Given the description of an element on the screen output the (x, y) to click on. 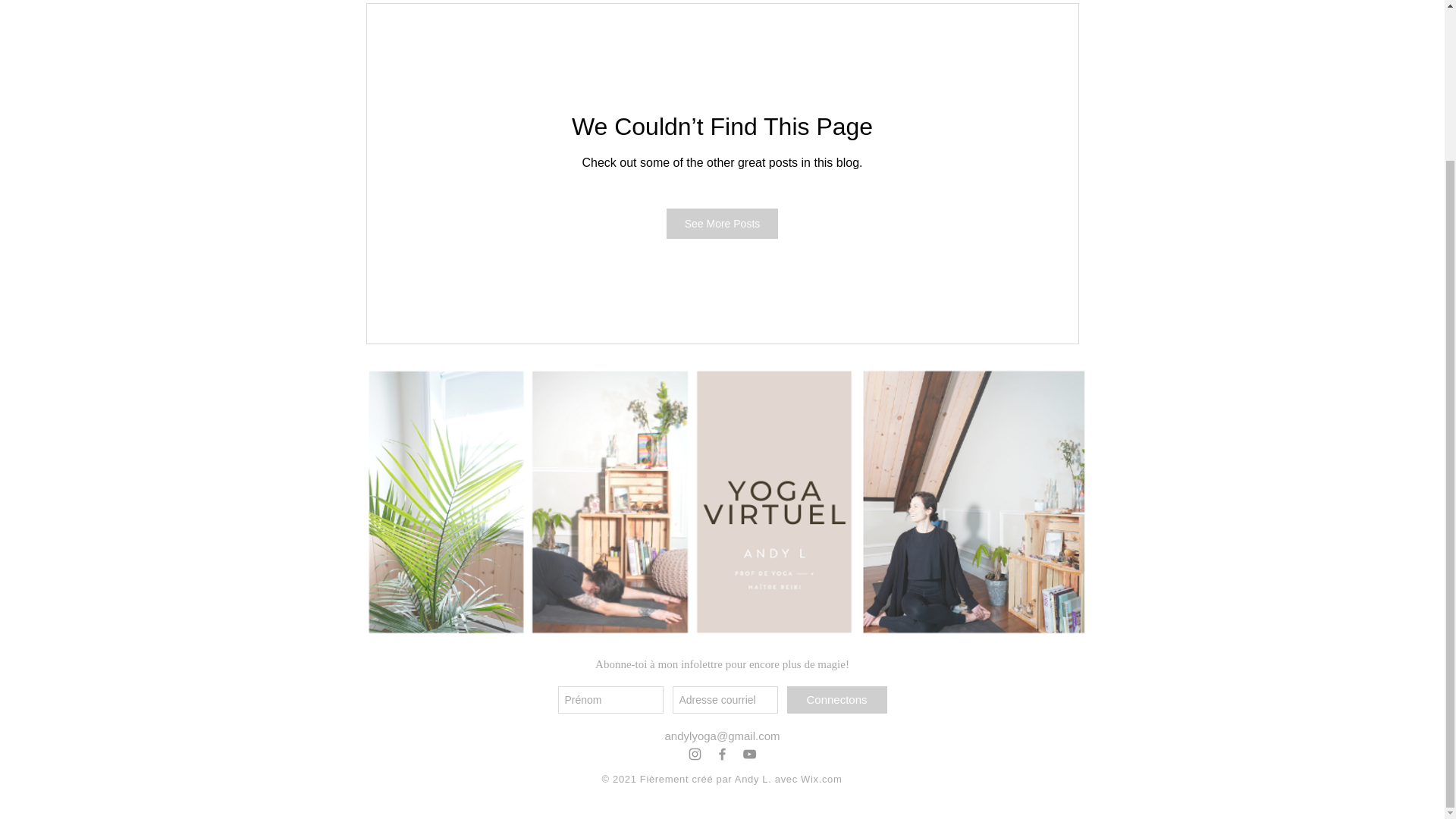
Connectons (836, 699)
Wix.com (820, 778)
See More Posts (722, 223)
